Given the description of an element on the screen output the (x, y) to click on. 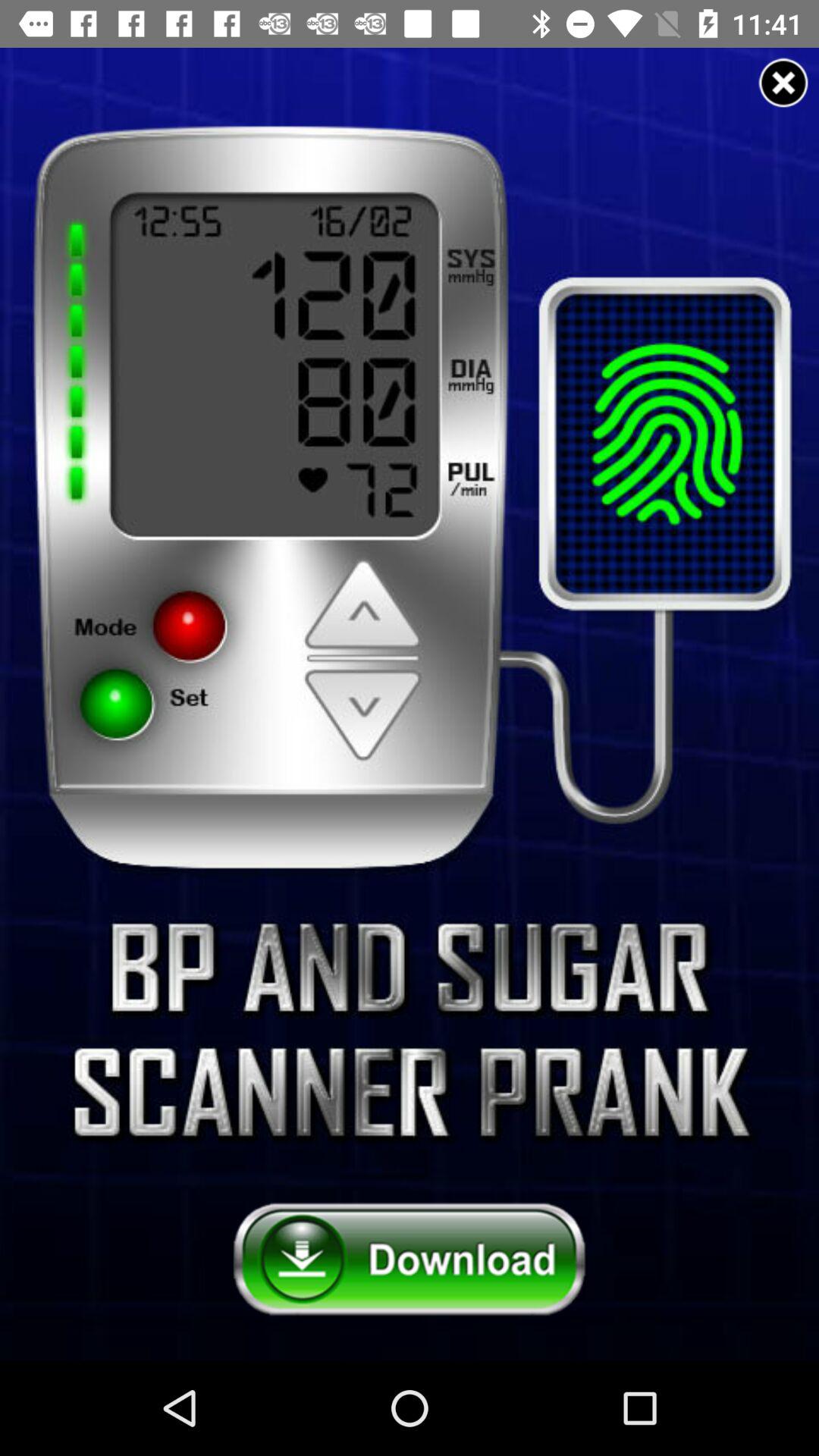
close advertisement (783, 83)
